Given the description of an element on the screen output the (x, y) to click on. 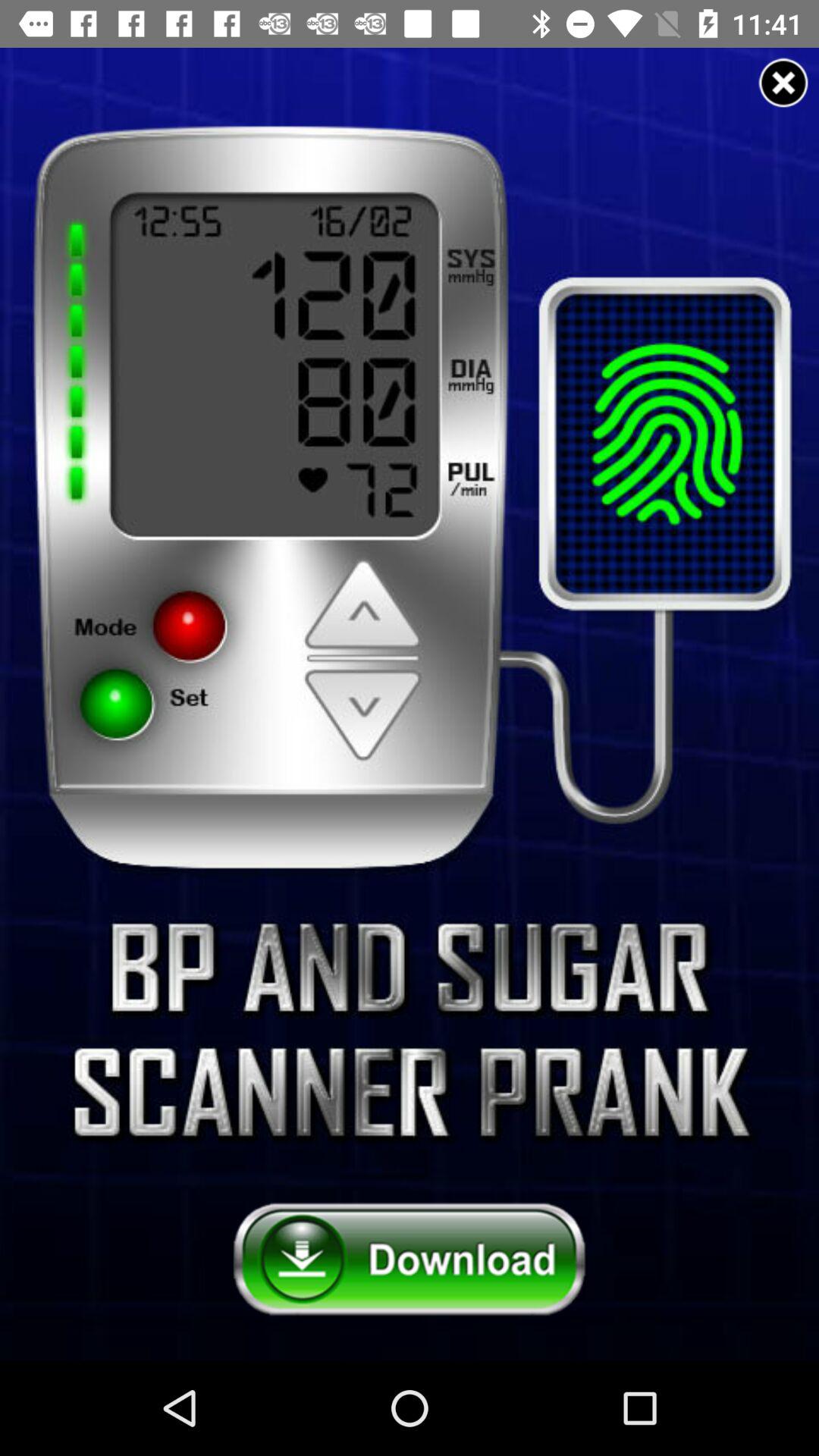
close advertisement (783, 83)
